Given the description of an element on the screen output the (x, y) to click on. 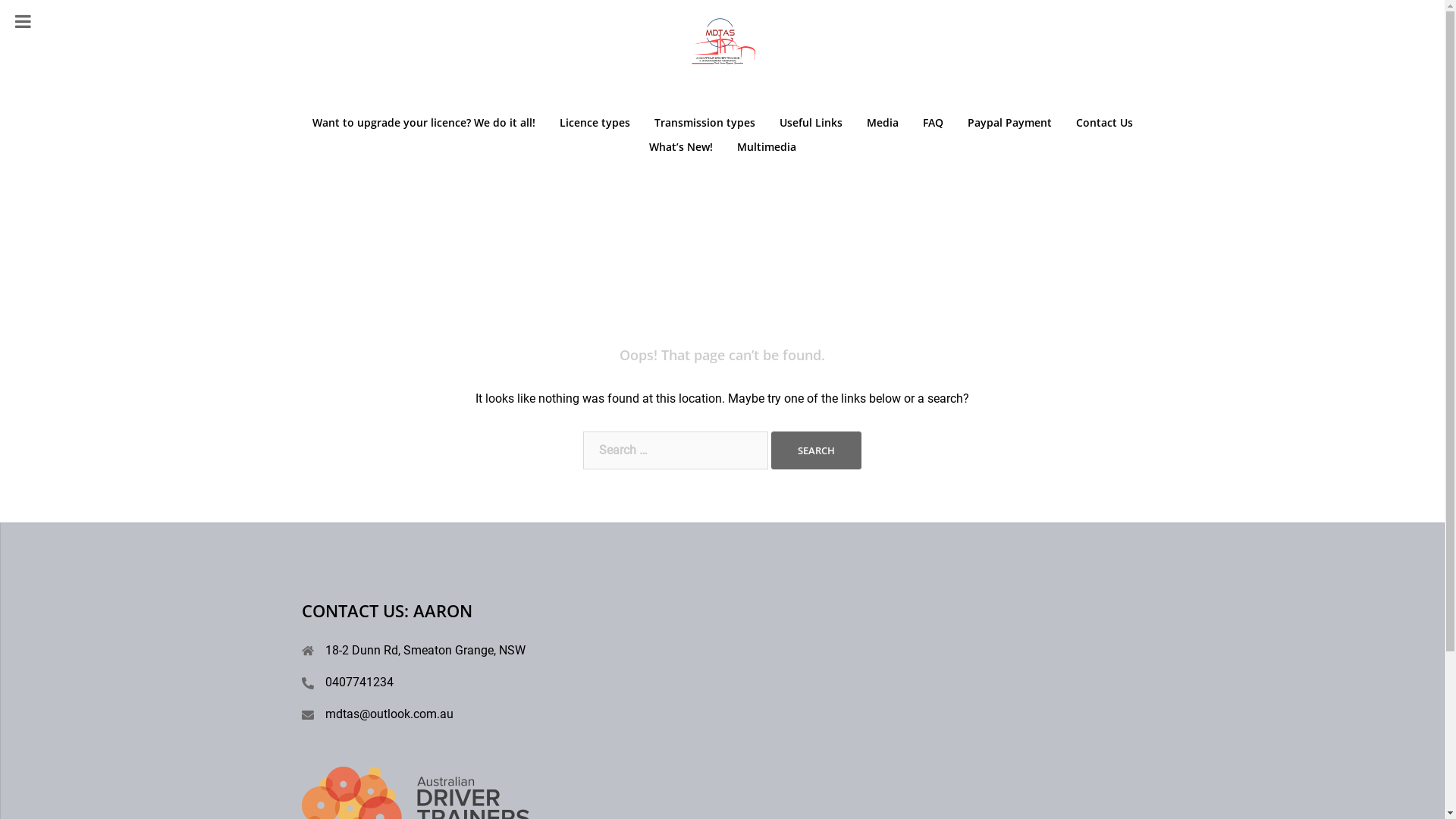
mdtas@outlook.com.au Element type: text (388, 713)
Licence types Element type: text (594, 122)
Multimedia Element type: text (766, 147)
Search Element type: text (816, 450)
Useful Links Element type: text (810, 122)
Macarthur Driver Training Element type: hover (722, 57)
Transmission types Element type: text (703, 122)
Media Element type: text (881, 122)
Paypal Payment Element type: text (1009, 122)
Want to upgrade your licence? We do it all! Element type: text (423, 122)
Contact Us Element type: text (1103, 122)
FAQ Element type: text (932, 122)
